Given the description of an element on the screen output the (x, y) to click on. 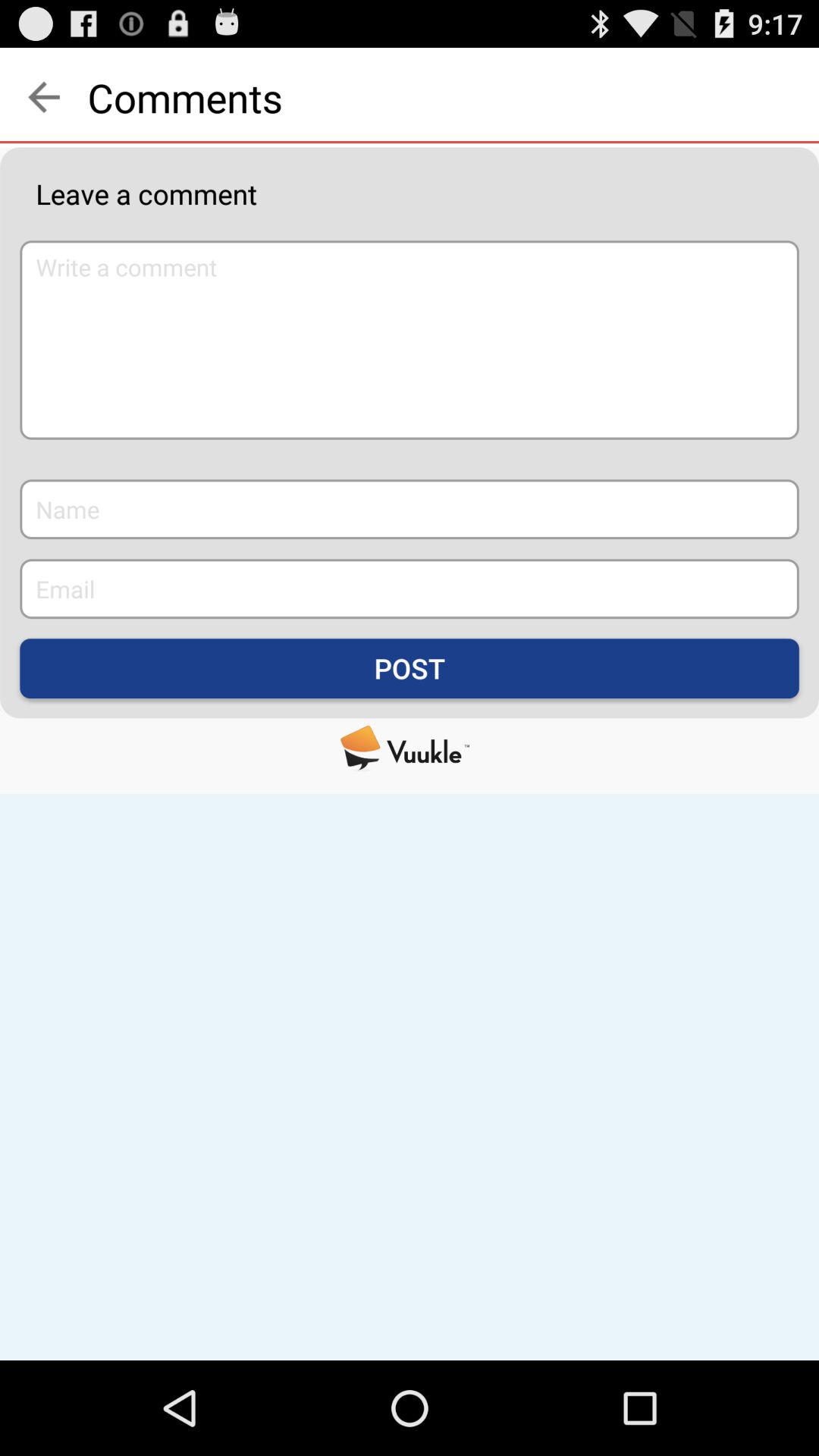
tap the post icon (409, 668)
